Given the description of an element on the screen output the (x, y) to click on. 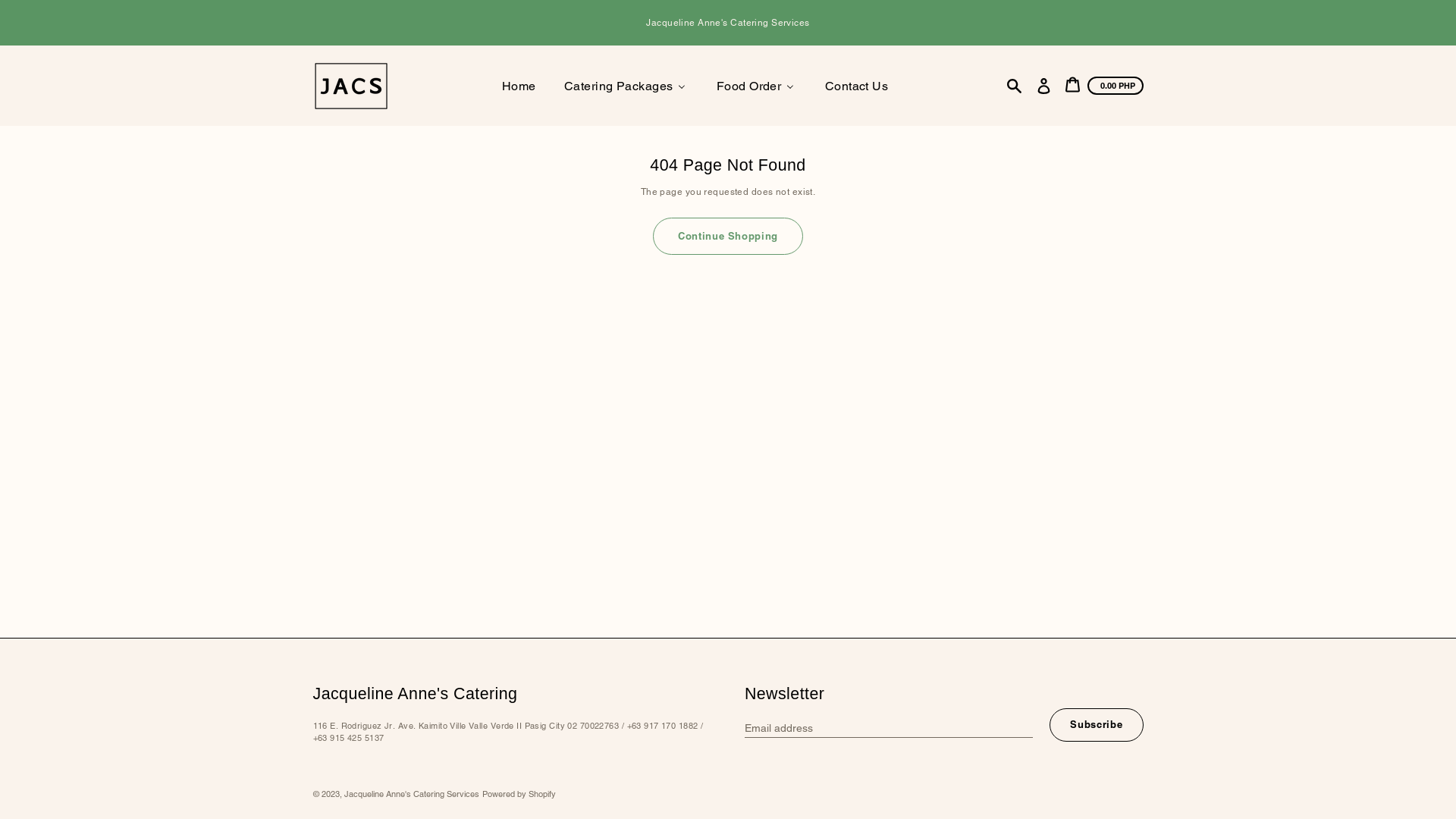
Subscribe Element type: text (1095, 724)
Jacqueline Anne's Catering Services Element type: text (411, 793)
Log in Element type: text (1043, 85)
Contact Us Element type: text (855, 85)
Food Order Element type: text (755, 85)
Catering Packages Element type: text (625, 85)
Home Element type: text (517, 85)
Powered by Shopify Element type: text (518, 793)
Continue Shopping Element type: text (727, 235)
Search Element type: text (1014, 85)
